Given the description of an element on the screen output the (x, y) to click on. 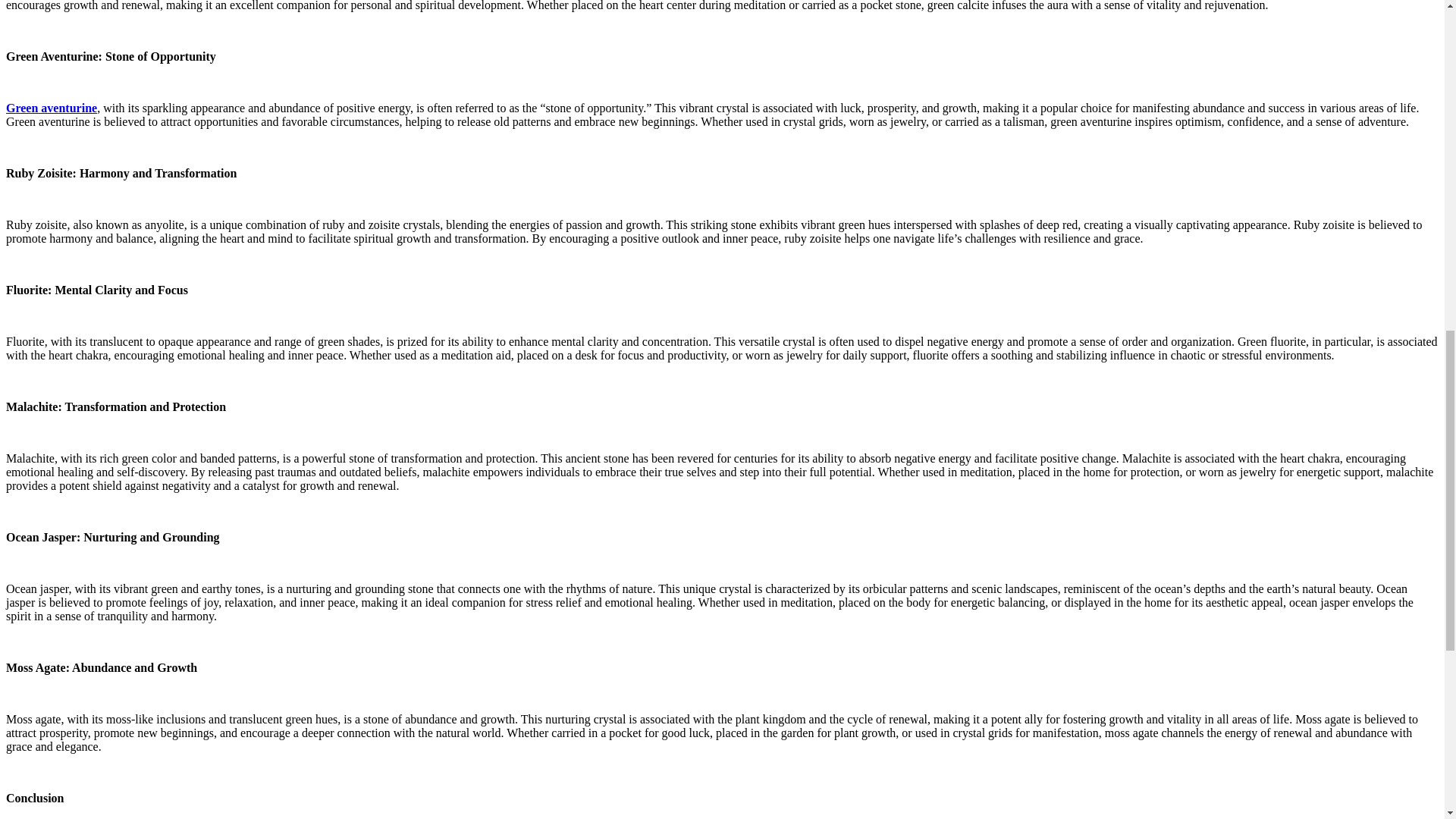
Green aventurine (51, 107)
